Given the description of an element on the screen output the (x, y) to click on. 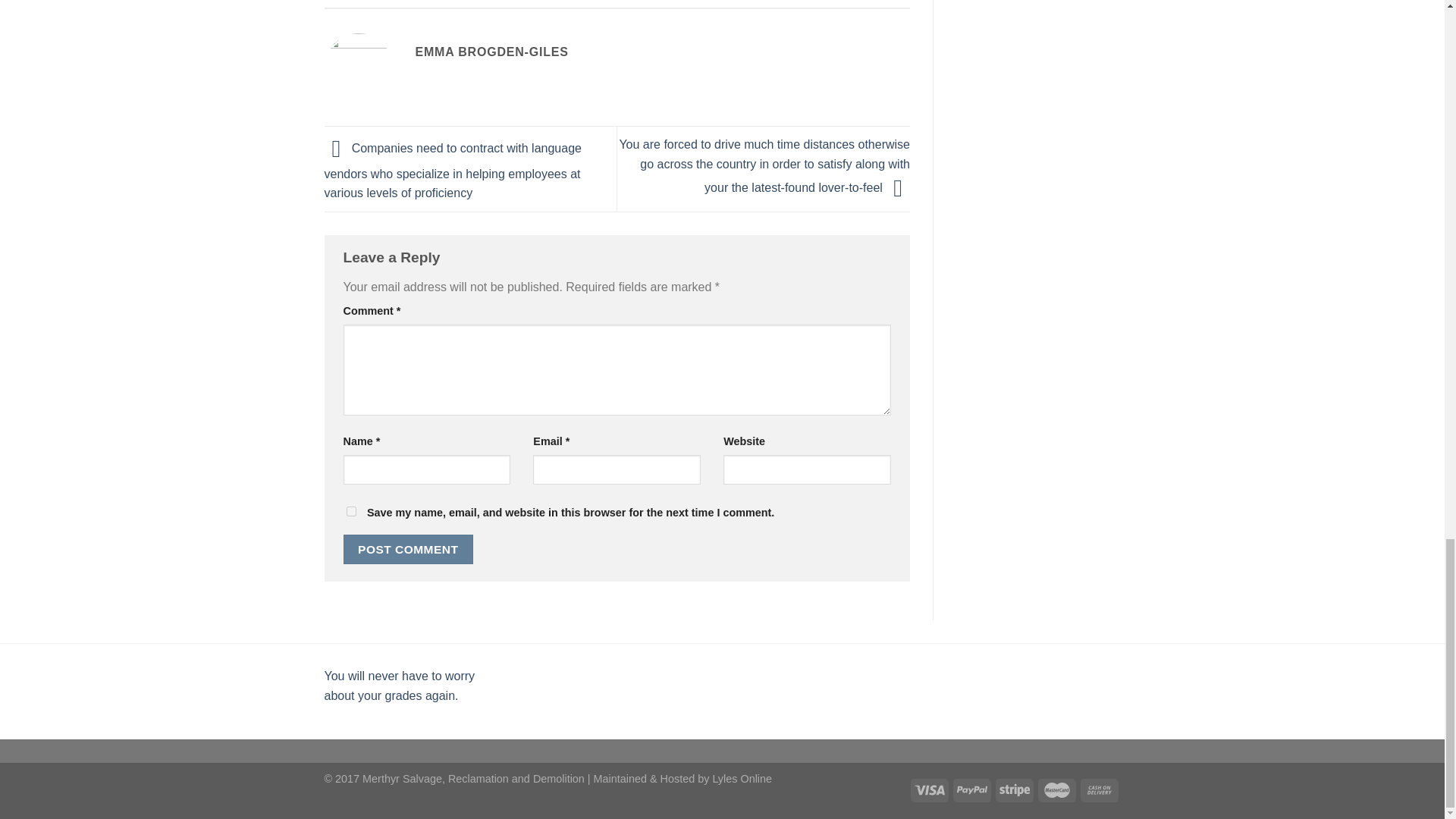
yes (350, 511)
Post Comment (407, 549)
Post Comment (407, 549)
